Given the description of an element on the screen output the (x, y) to click on. 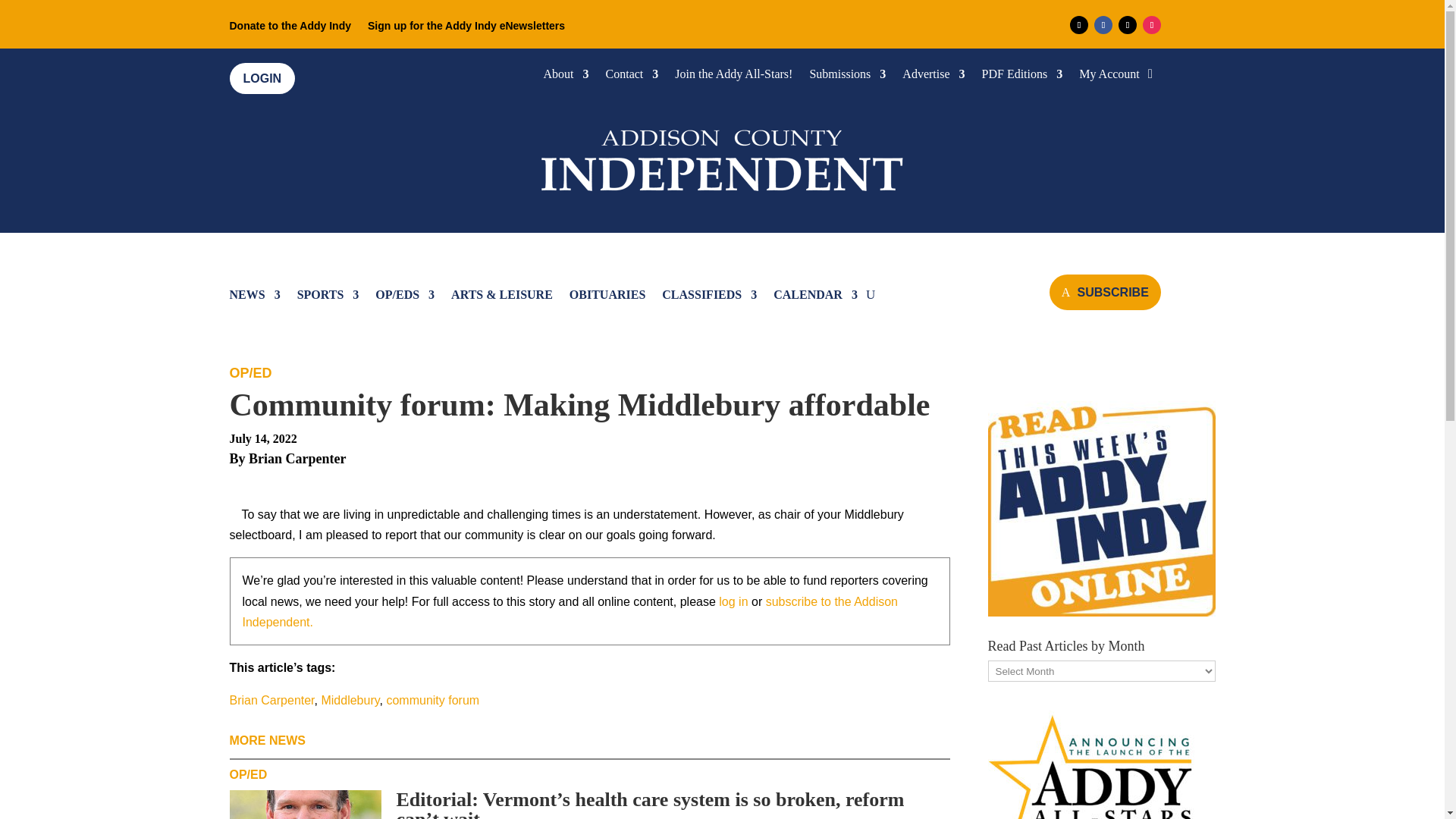
addison-logo (721, 156)
Advertise (932, 76)
NEWS (253, 297)
Contact (632, 76)
Follow on Facebook (1103, 24)
Follow on Instagram (1151, 24)
LOGIN (261, 78)
Follow on Mail (1078, 24)
PDF Editions (1021, 76)
Follow on X (1127, 24)
